Given the description of an element on the screen output the (x, y) to click on. 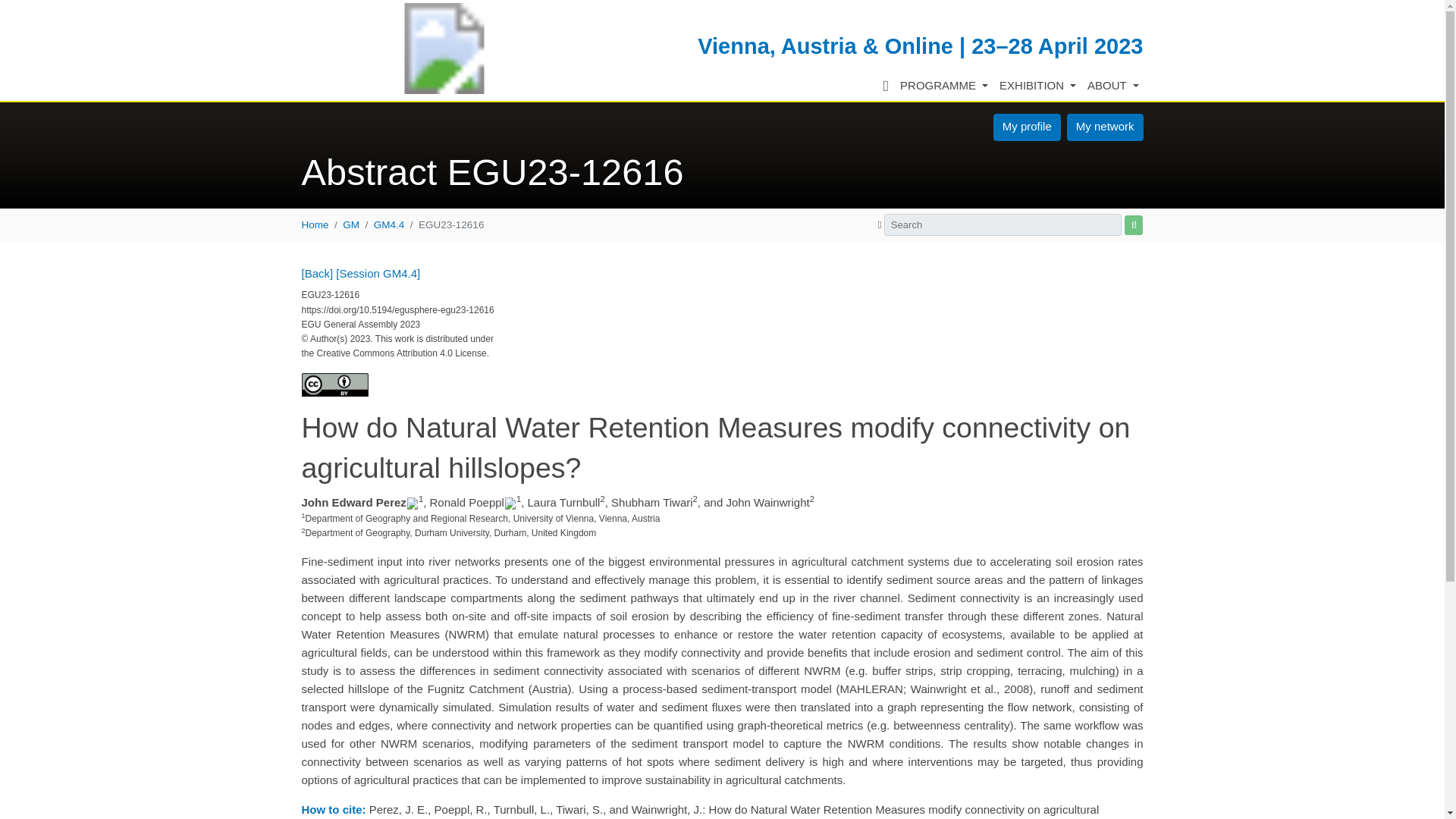
ABOUT (1112, 86)
My profile (1026, 126)
GM (350, 224)
PROGRAMME (944, 86)
GM4.4 (389, 224)
Home (315, 224)
EXHIBITION (1037, 86)
My network (1104, 126)
Start site search (1133, 225)
